Given the description of an element on the screen output the (x, y) to click on. 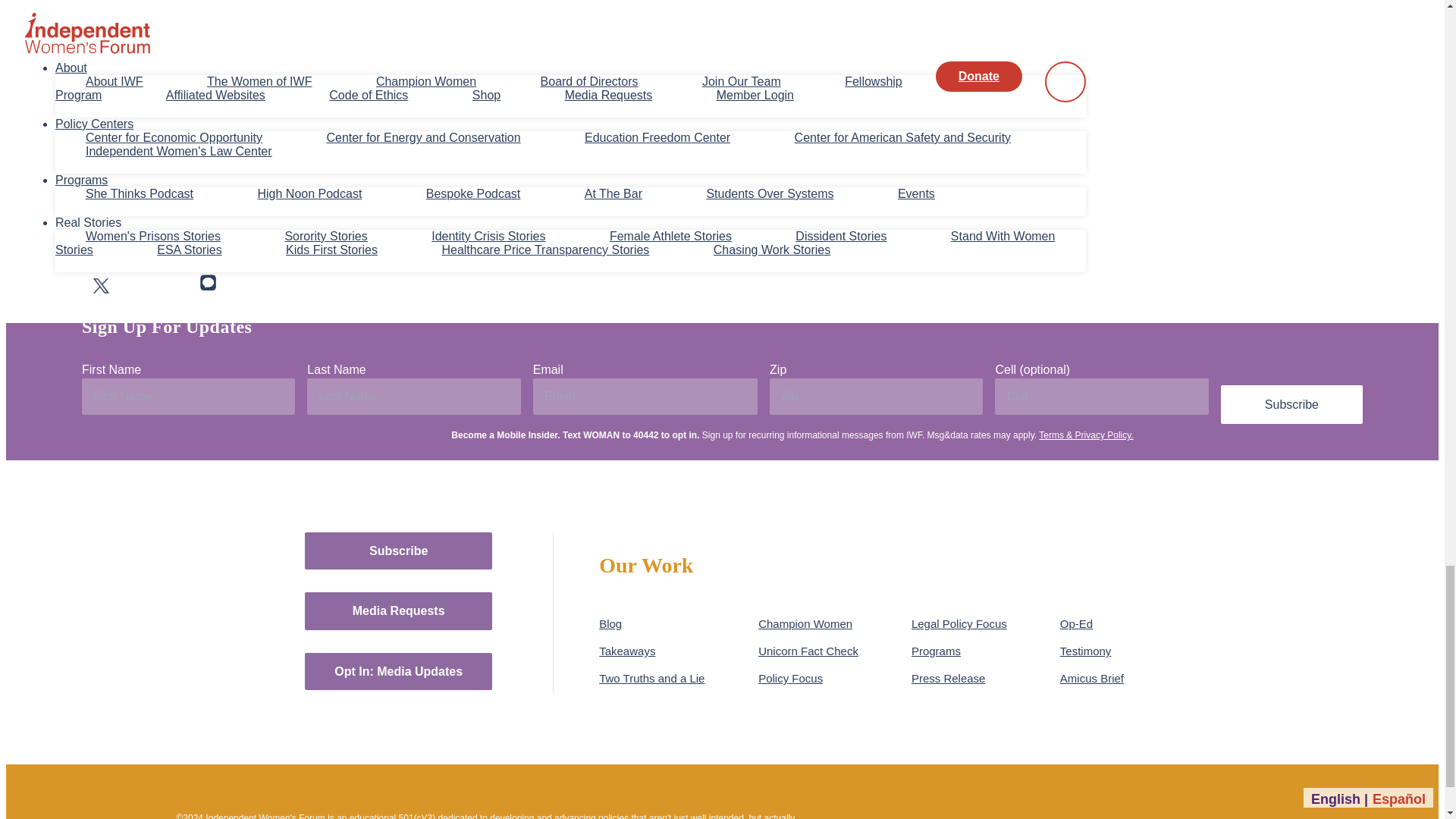
Subscribe (1291, 404)
